Given the description of an element on the screen output the (x, y) to click on. 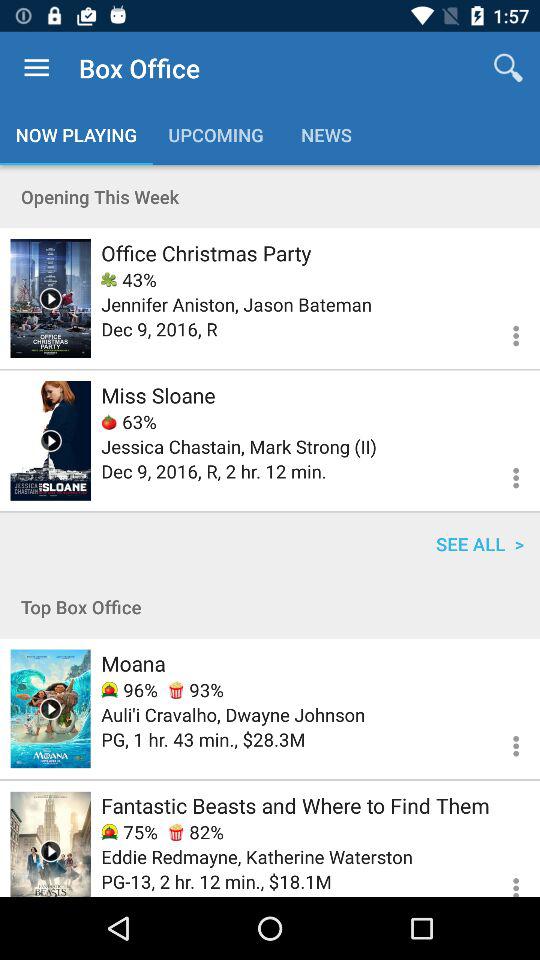
check out this movie (50, 844)
